Given the description of an element on the screen output the (x, y) to click on. 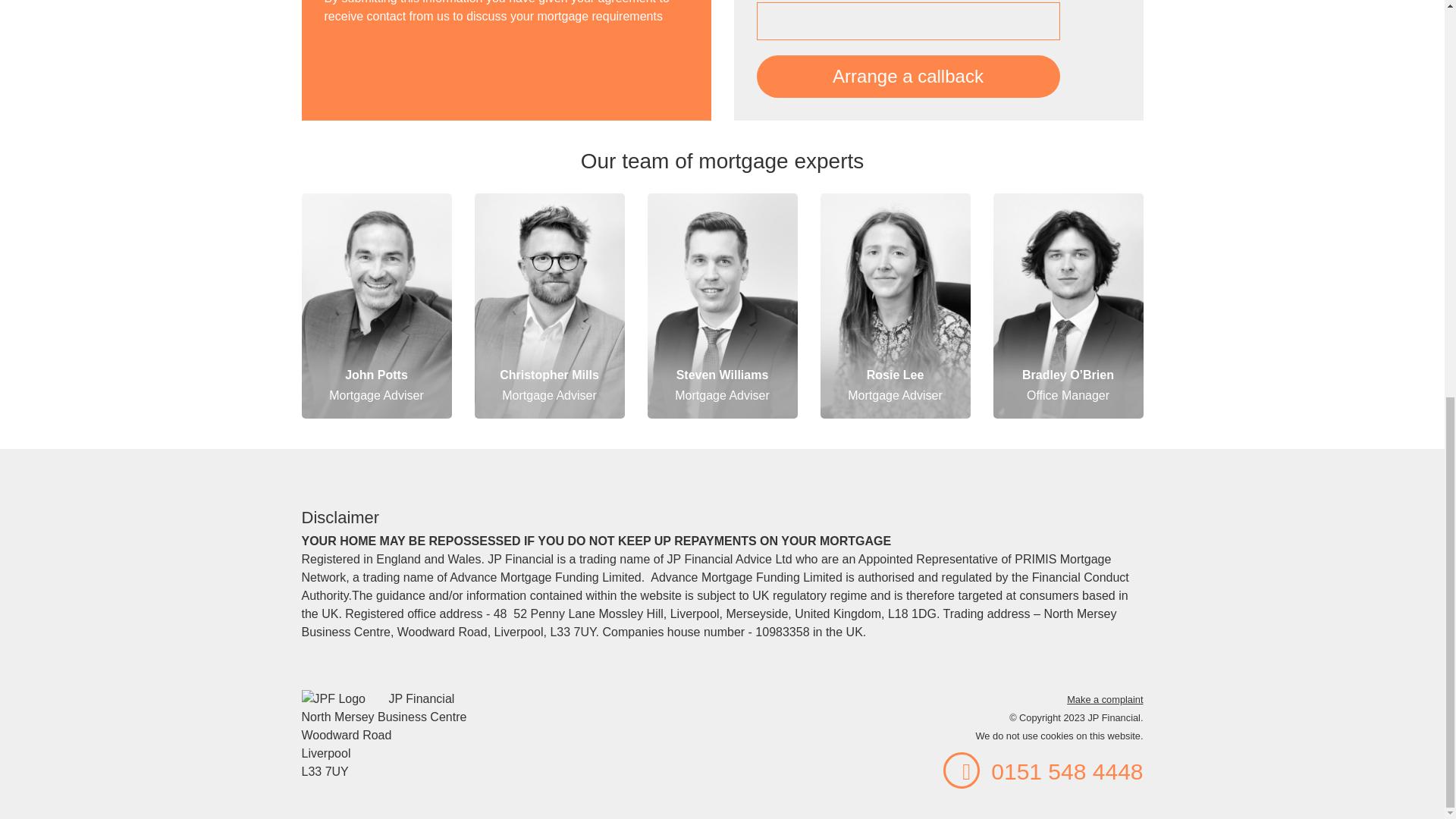
View on Google Maps (506, 735)
Make a complaint (1104, 699)
Arrange a callback (908, 76)
0151 548 4448 (1042, 770)
Arrange a callback (908, 76)
